Given the description of an element on the screen output the (x, y) to click on. 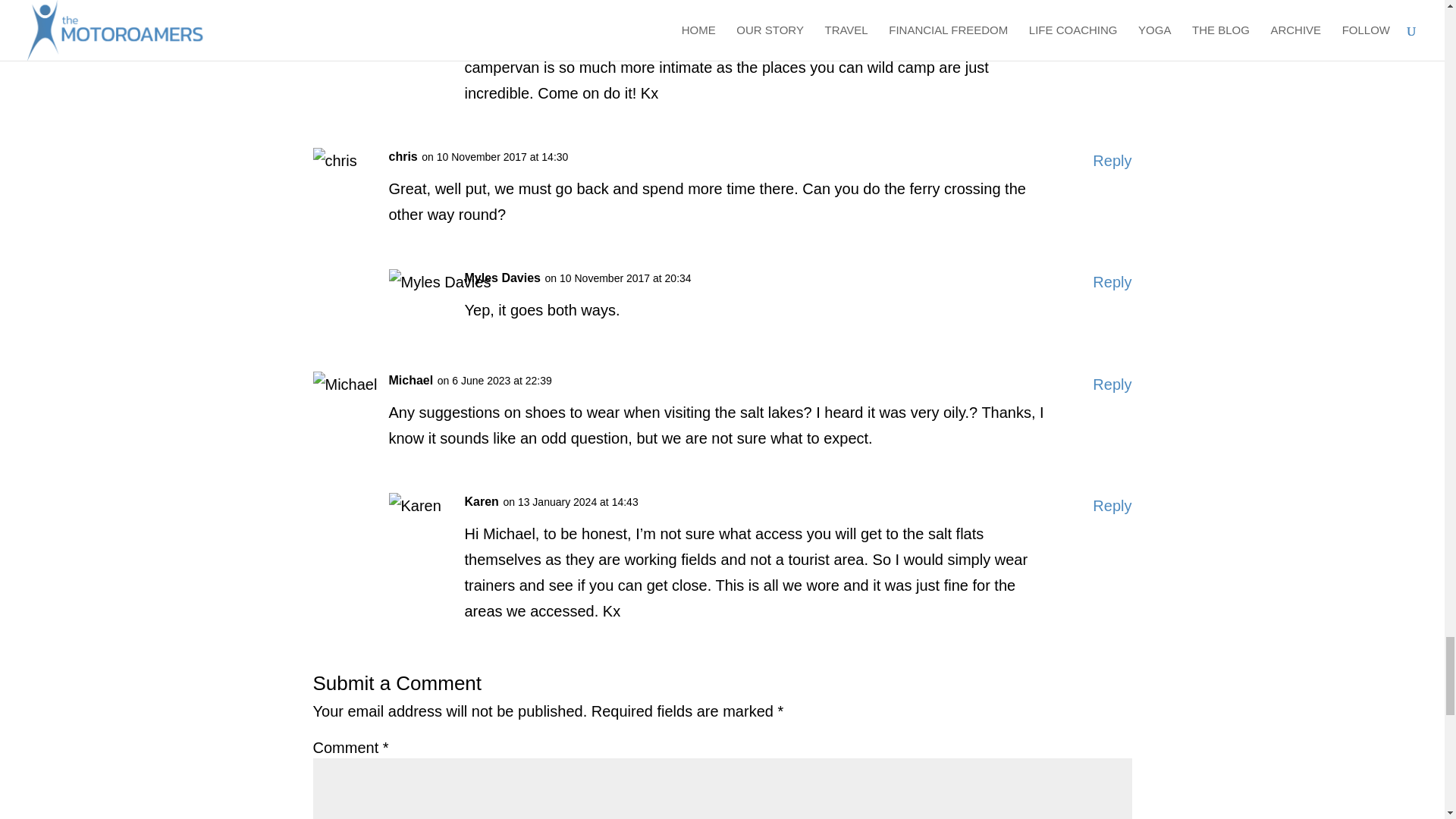
Myles Davies (502, 278)
Reply (1112, 505)
Reply (1112, 384)
Reply (1112, 13)
Reply (1112, 160)
Karen Davies (502, 11)
Reply (1112, 281)
